Given the description of an element on the screen output the (x, y) to click on. 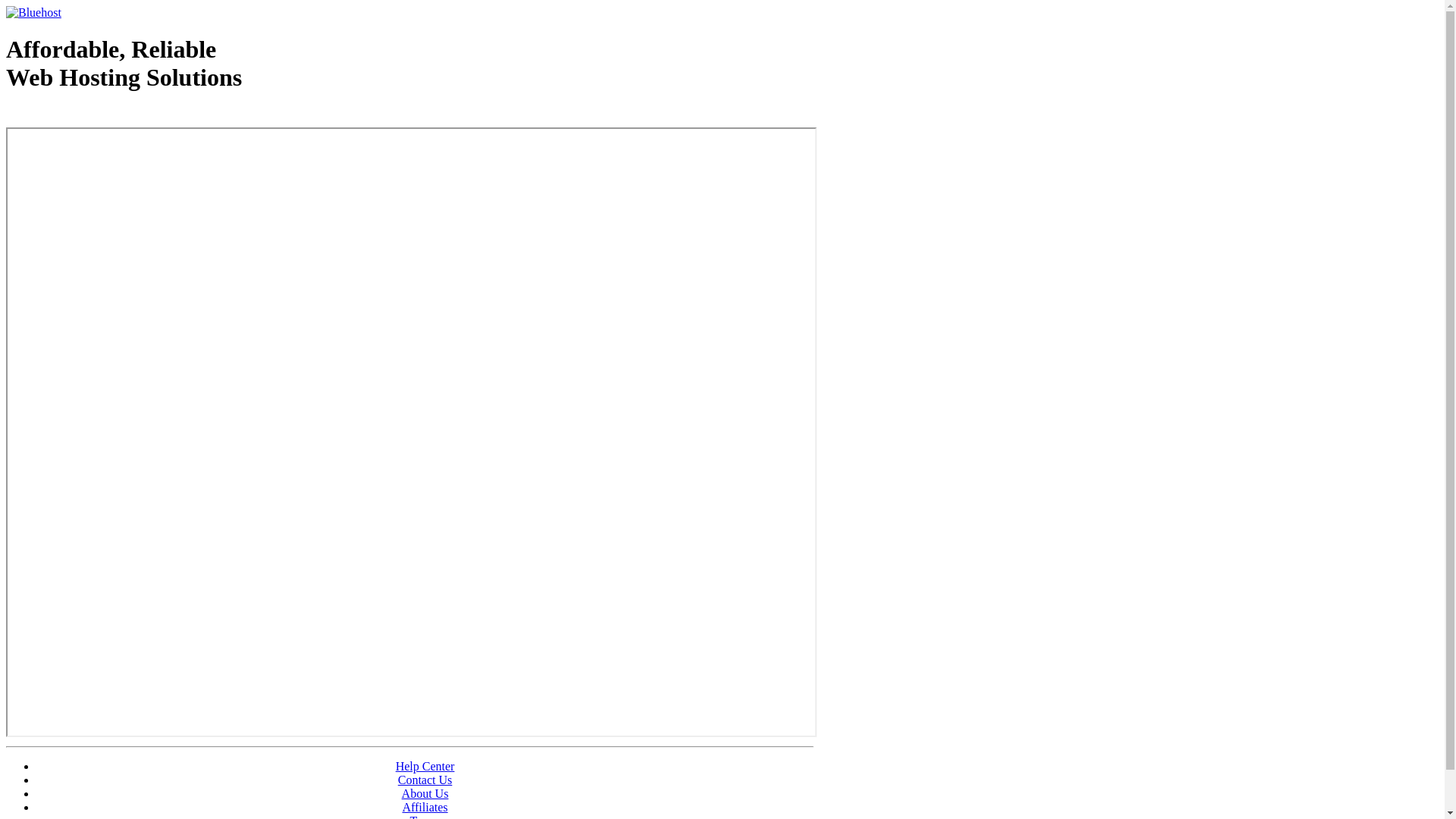
Affiliates Element type: text (424, 806)
Help Center Element type: text (425, 765)
Web Hosting - courtesy of www.bluehost.com Element type: text (94, 115)
Contact Us Element type: text (425, 779)
About Us Element type: text (424, 793)
